Given the description of an element on the screen output the (x, y) to click on. 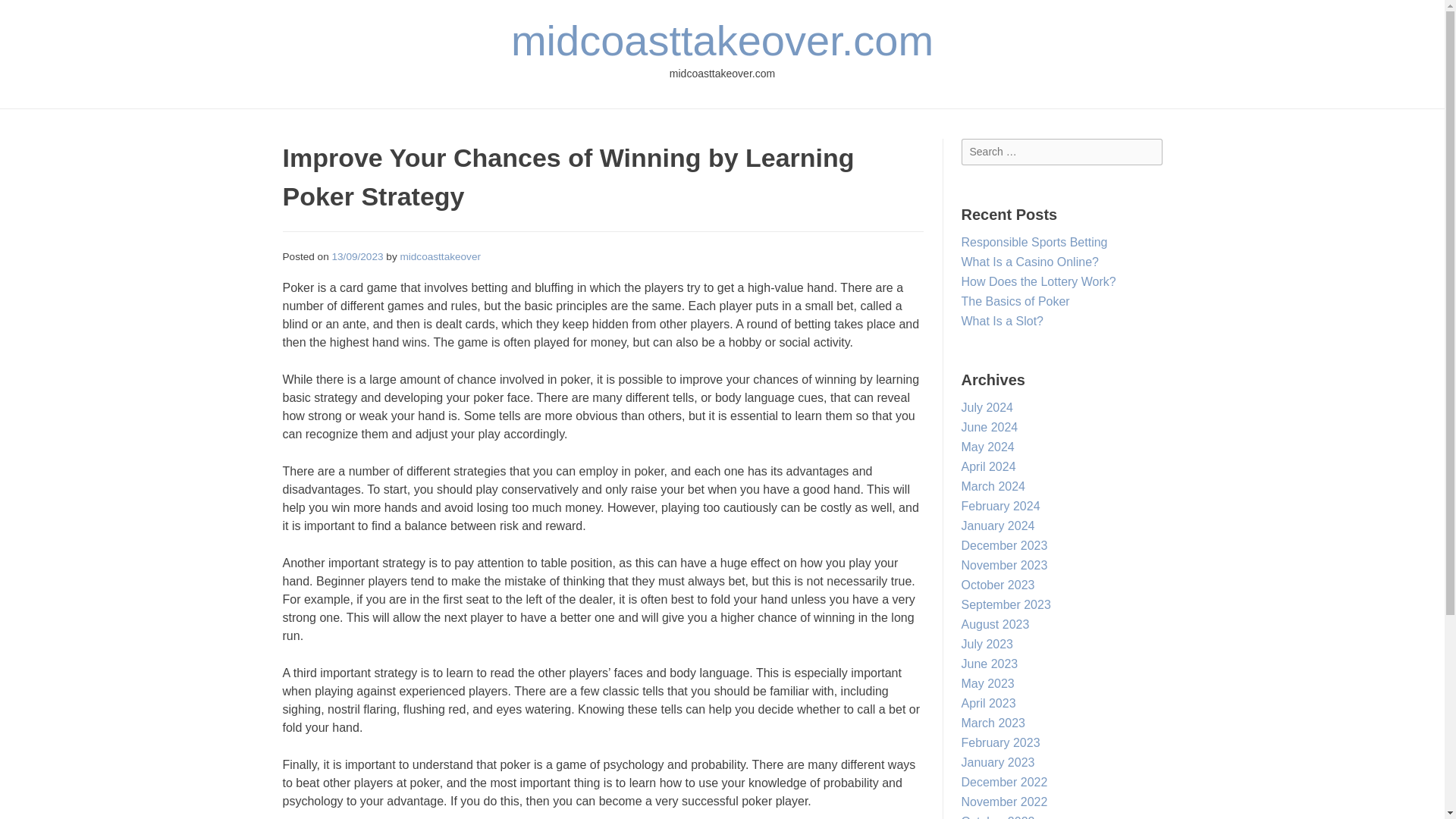
October 2023 (997, 584)
August 2023 (994, 624)
midcoasttakeover (439, 256)
The Basics of Poker (1015, 300)
September 2023 (1005, 604)
March 2023 (993, 722)
April 2024 (988, 466)
July 2023 (986, 644)
June 2023 (988, 663)
What Is a Slot? (1001, 320)
February 2024 (1000, 505)
February 2023 (1000, 742)
June 2024 (988, 427)
Responsible Sports Betting (1034, 241)
May 2024 (987, 446)
